Given the description of an element on the screen output the (x, y) to click on. 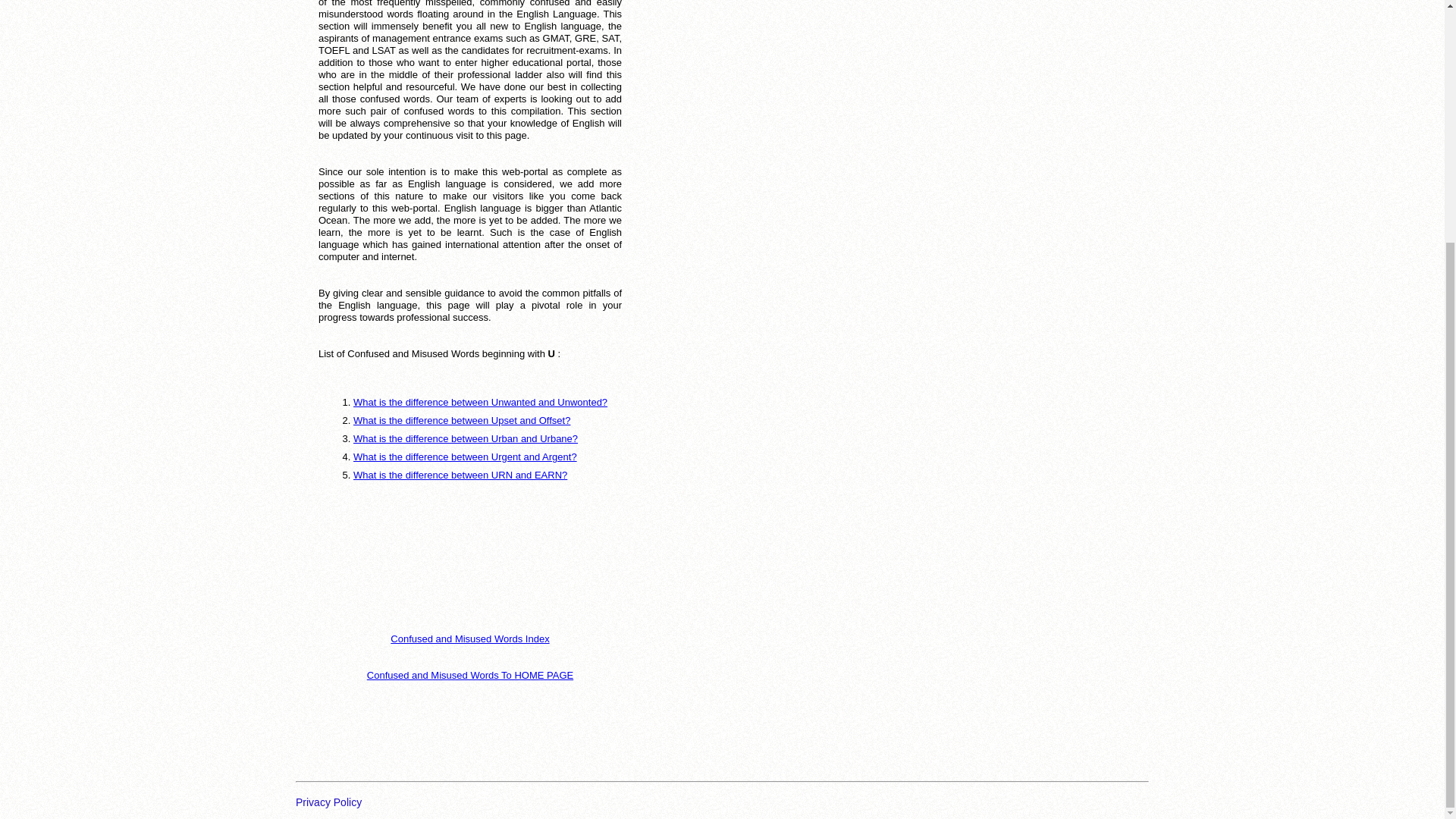
What is the difference between Urgent and Argent? (464, 456)
What is the difference between Upset and Offset? (461, 419)
Confused and Misused Words To HOME PAGE (469, 674)
Confused and Misused Words Index (469, 638)
What is the difference between Unwanted and Unwonted? (480, 401)
What is the difference between Urban and Urbane? (465, 438)
What is the difference between URN and EARN? (460, 474)
